Given the description of an element on the screen output the (x, y) to click on. 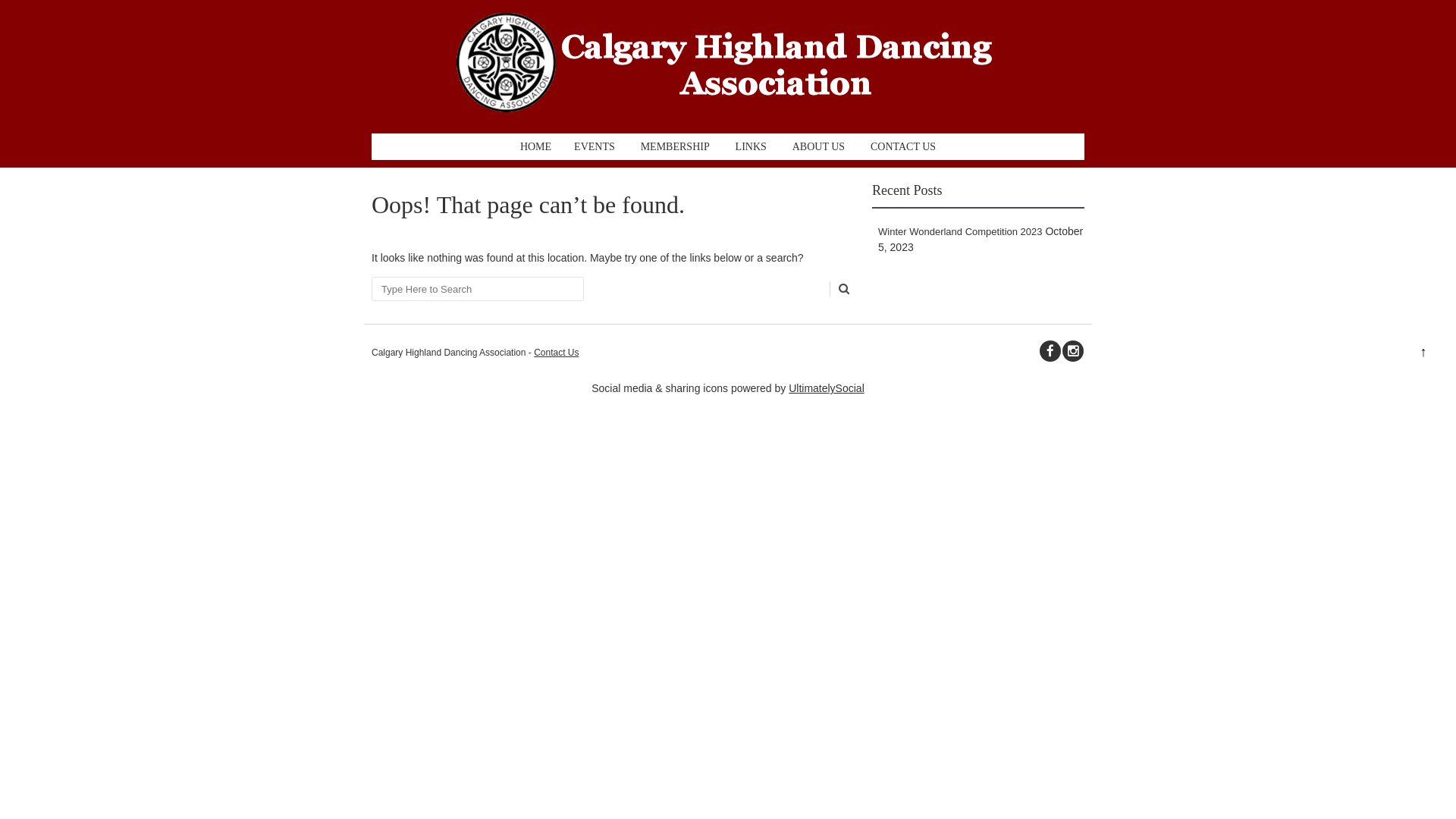
LINKS Element type: text (751, 146)
ABOUT US Element type: text (818, 146)
EVENTS Element type: text (594, 146)
Search Element type: text (842, 288)
facebook Element type: hover (1049, 350)
CONTACT US Element type: text (902, 146)
MEMBERSHIP Element type: text (675, 146)
HOME Element type: text (535, 146)
UltimatelySocial Element type: text (826, 388)
Winter Wonderland Competition 2023 Element type: text (960, 231)
instagram Element type: hover (1072, 350)
Contact Us Element type: text (555, 352)
